Given the description of an element on the screen output the (x, y) to click on. 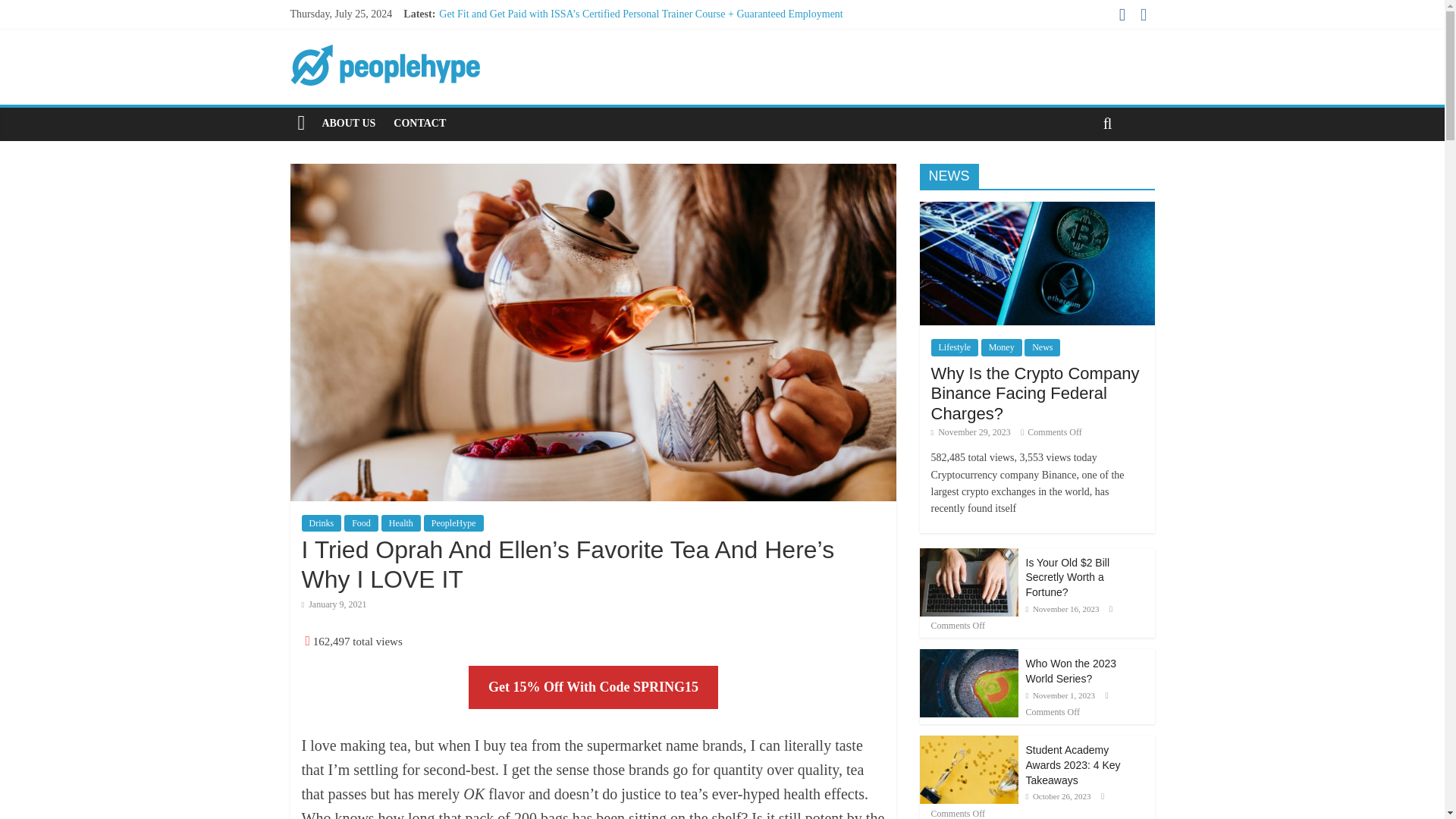
PeopleHype (301, 123)
PeopleHype (453, 523)
CONTACT (419, 123)
Why Is the Crypto Company Binance Facing Federal Charges? (1035, 393)
Why Is the Crypto Company Binance Facing Federal Charges? (1036, 263)
ABOUT US (348, 123)
3:10 pm (970, 431)
Food (360, 523)
Health (400, 523)
Why Is the Crypto Company Binance Facing Federal Charges? (1036, 209)
January 9, 2021 (333, 603)
9:57 pm (333, 603)
Drinks (321, 523)
